Given the description of an element on the screen output the (x, y) to click on. 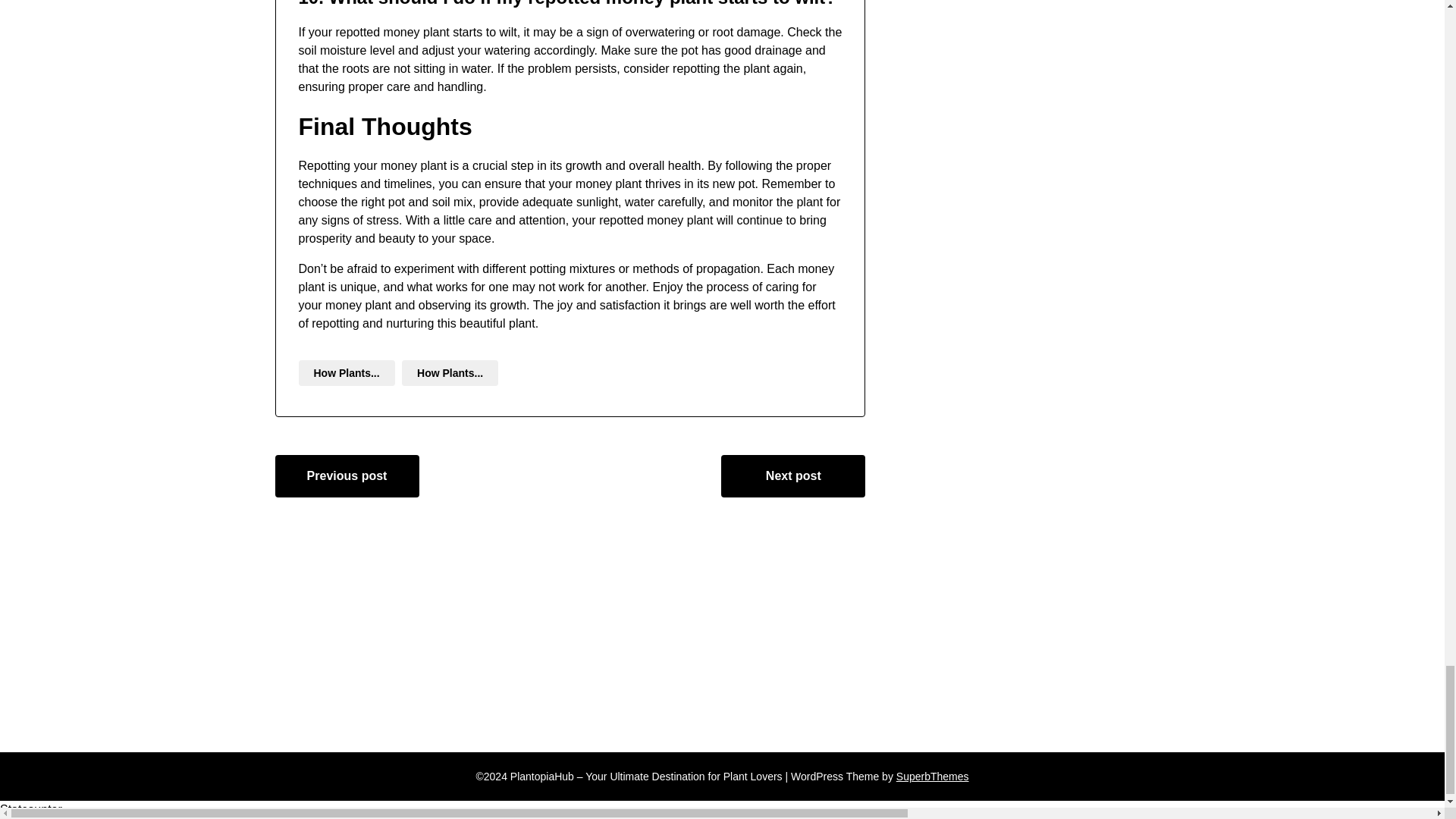
Next post (792, 476)
How Plants... (449, 372)
How Plants... (346, 372)
Previous post (347, 476)
